Given the description of an element on the screen output the (x, y) to click on. 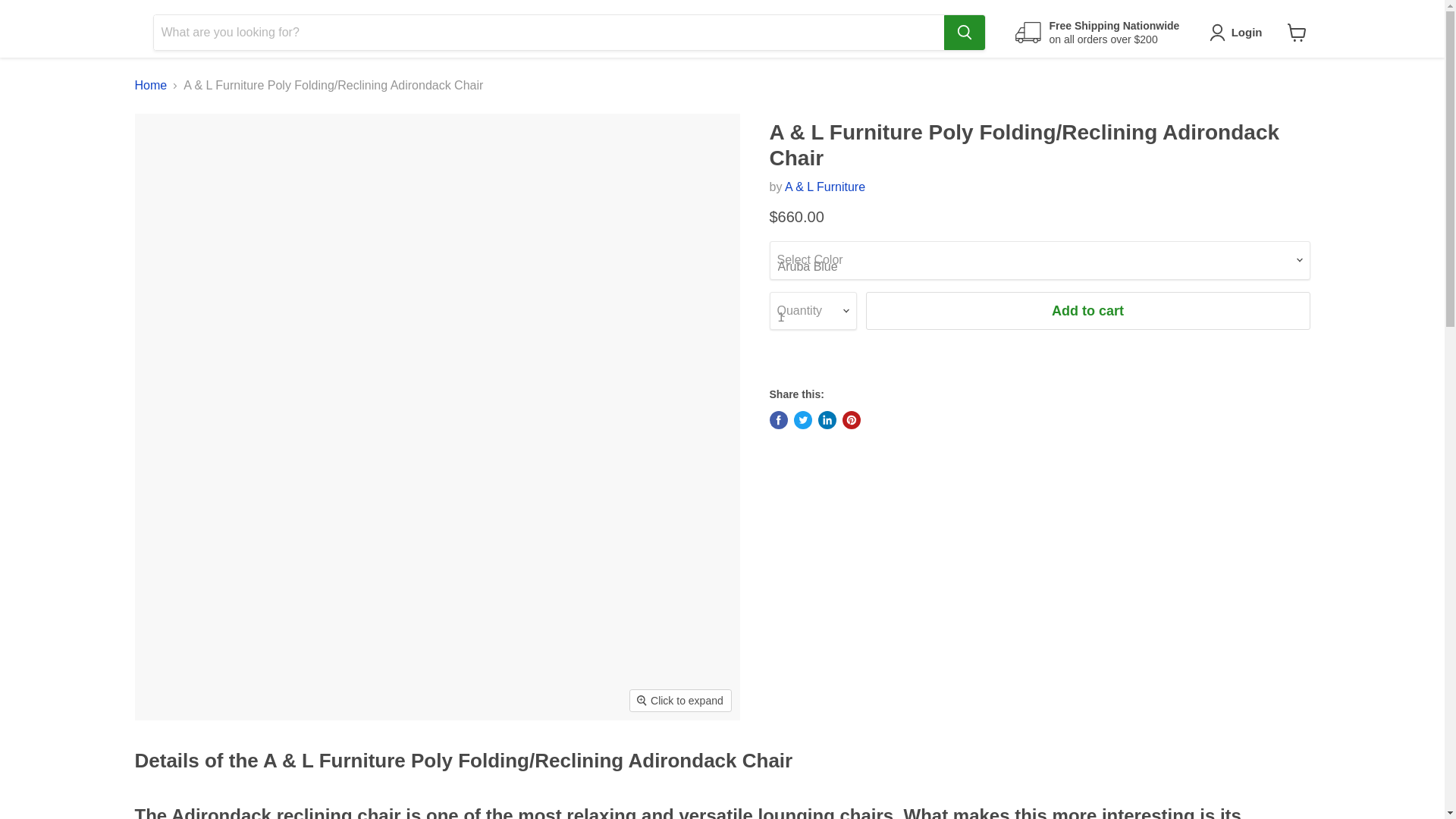
Home (151, 85)
Tweet on Twitter (801, 420)
Share on LinkedIn (825, 420)
Login (1246, 32)
View cart (1296, 32)
Add to cart (1088, 310)
Share on Facebook (777, 420)
Click to expand (680, 700)
Pin on Pinterest (850, 420)
